Given the description of an element on the screen output the (x, y) to click on. 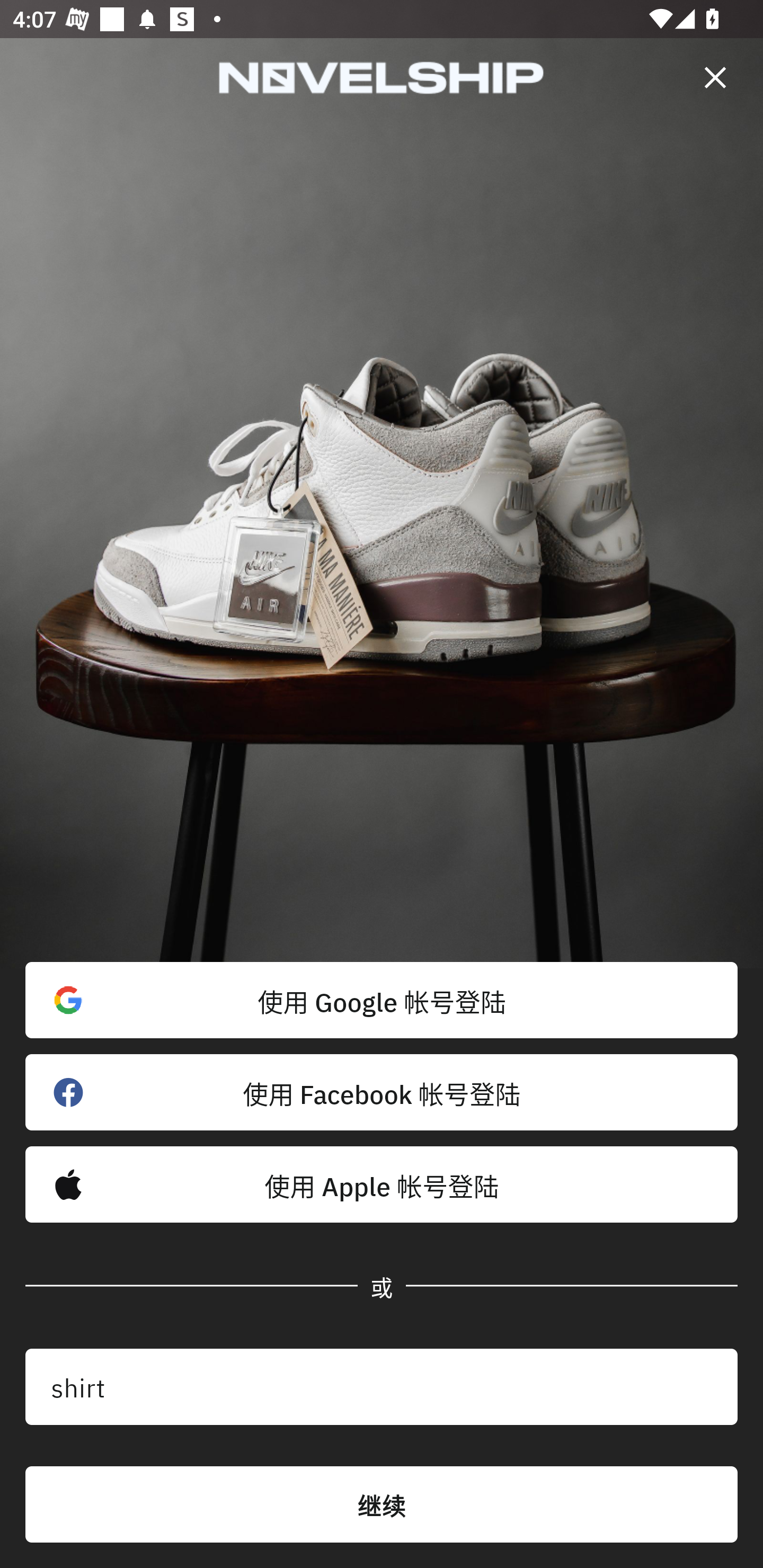
使用 Google 帐号登陆 (381, 1000)
使用 Facebook 帐号登陆 󰈌 (381, 1091)
 使用 Apple 帐号登陆 (381, 1184)
shirt (381, 1386)
继续 (381, 1504)
